Given the description of an element on the screen output the (x, y) to click on. 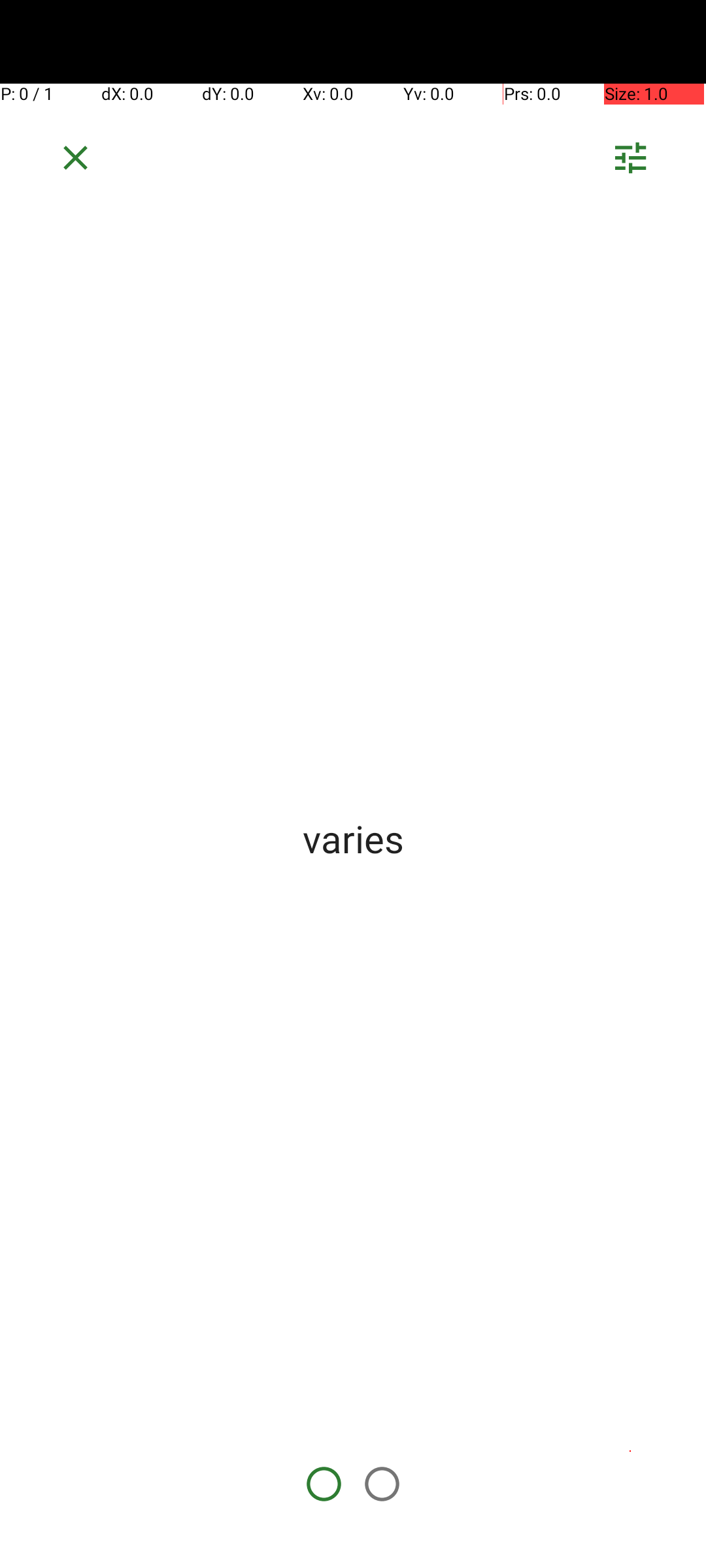
varies Element type: android.widget.TextView (352, 838)
